Given the description of an element on the screen output the (x, y) to click on. 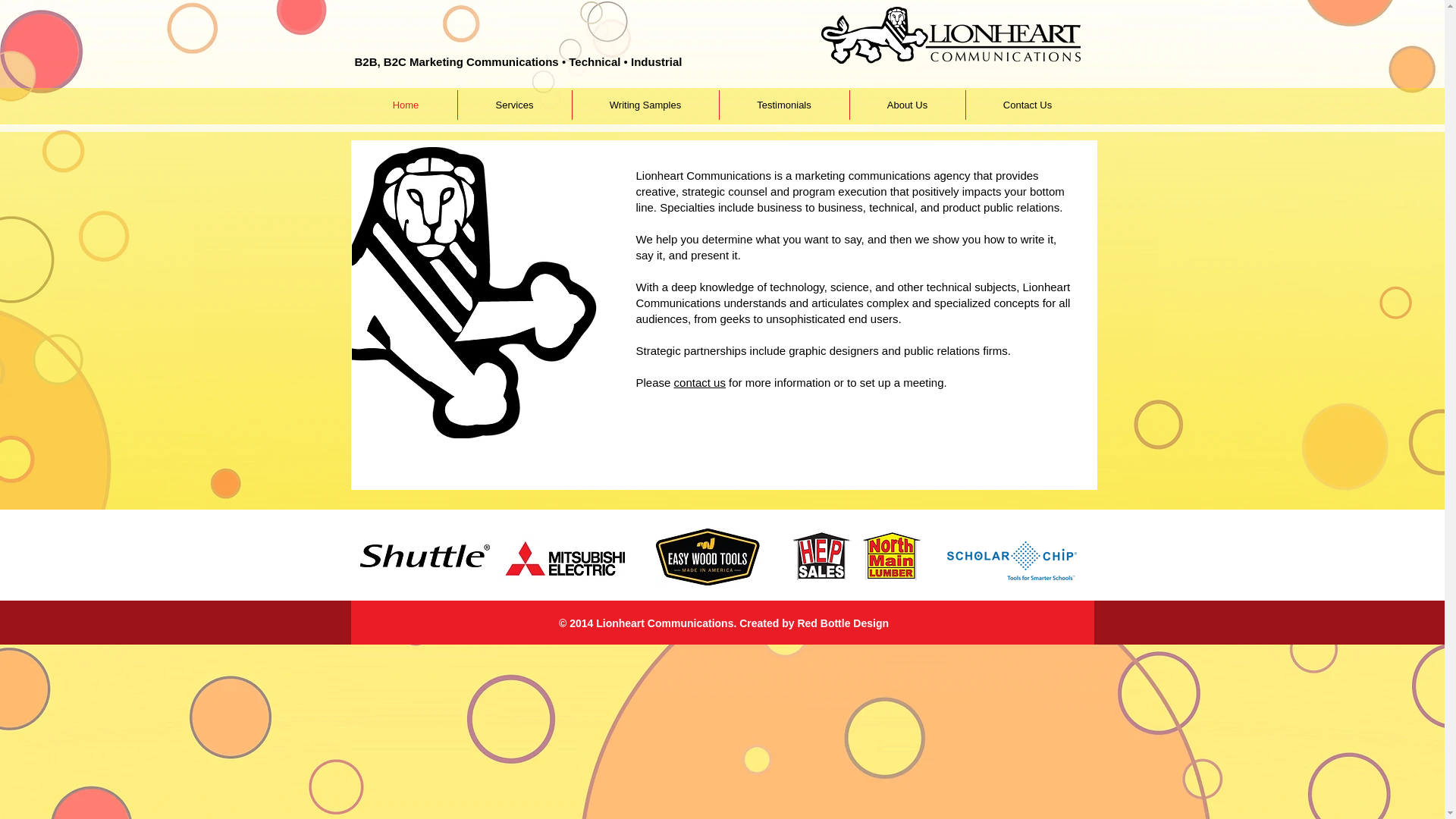
contact us (699, 382)
About Us (905, 104)
Contact Us (1027, 104)
Writing Samples (644, 104)
Testimonials (783, 104)
Services (515, 104)
Home (406, 104)
